Given the description of an element on the screen output the (x, y) to click on. 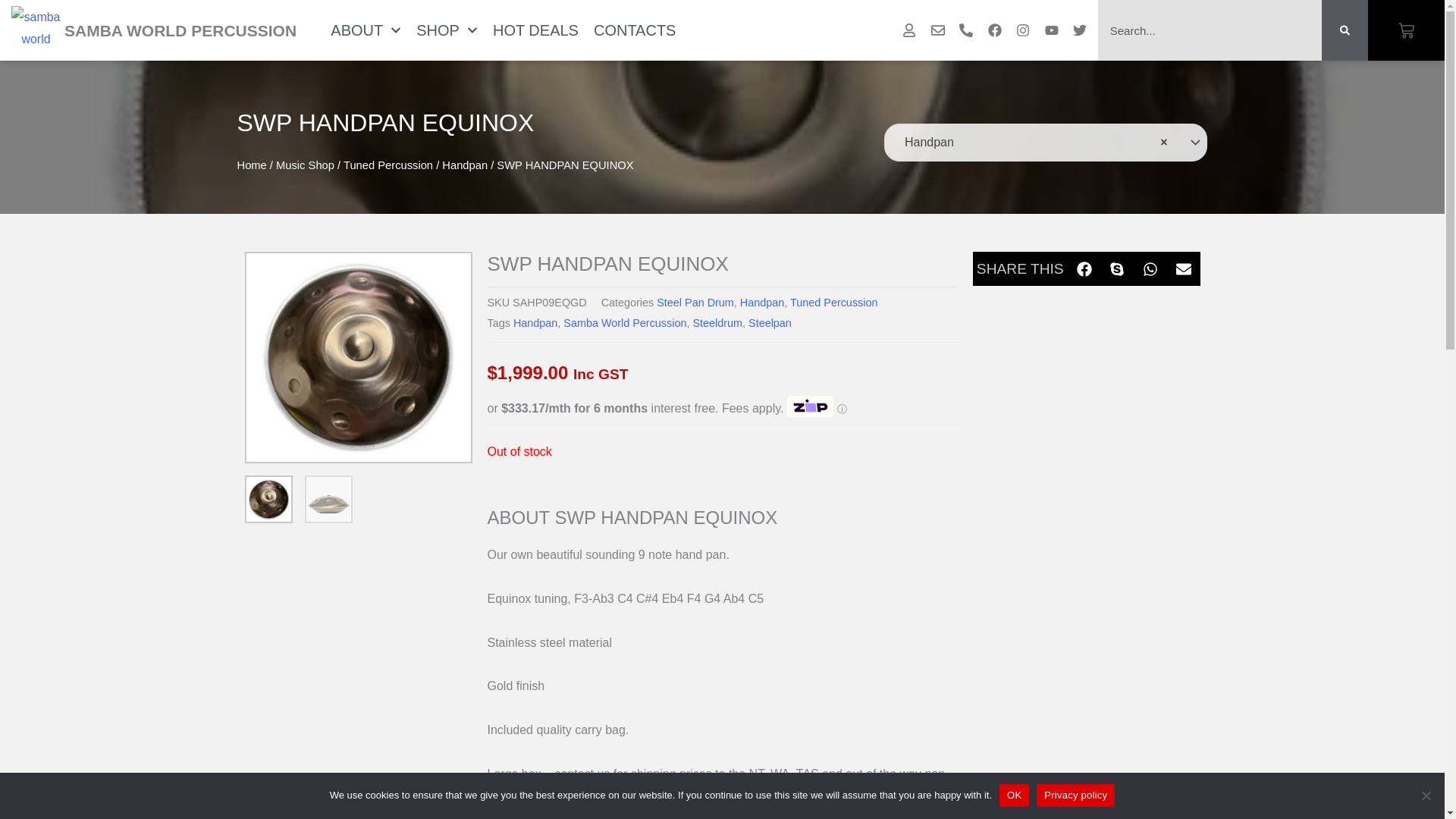
SAHP09EQ (358, 357)
Search (1209, 30)
ABOUT (366, 30)
No (1425, 795)
SAMBA WORLD PERCUSSION (180, 29)
SHOP (446, 30)
samba world percussion australia logo (36, 30)
